Given the description of an element on the screen output the (x, y) to click on. 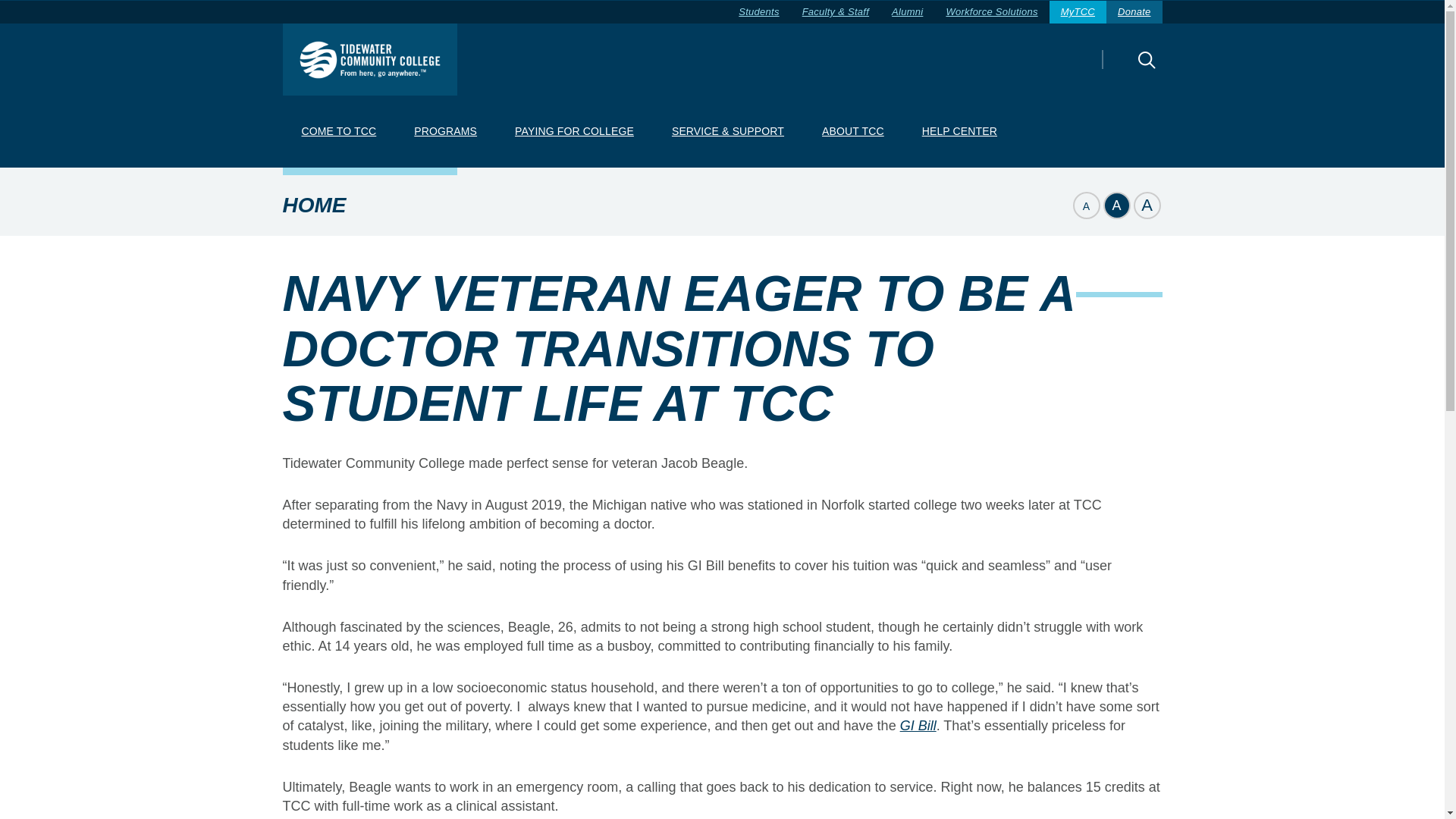
Set page copy to small size (1085, 205)
Donate (1133, 11)
PROGRAMS (445, 131)
Alumni (907, 11)
Set page copy to normal size (1115, 205)
Workforce Solutions (991, 11)
COME TO TCC (338, 131)
PAYING FOR COLLEGE (574, 131)
MyTCC (1077, 11)
Search (1119, 70)
